Given the description of an element on the screen output the (x, y) to click on. 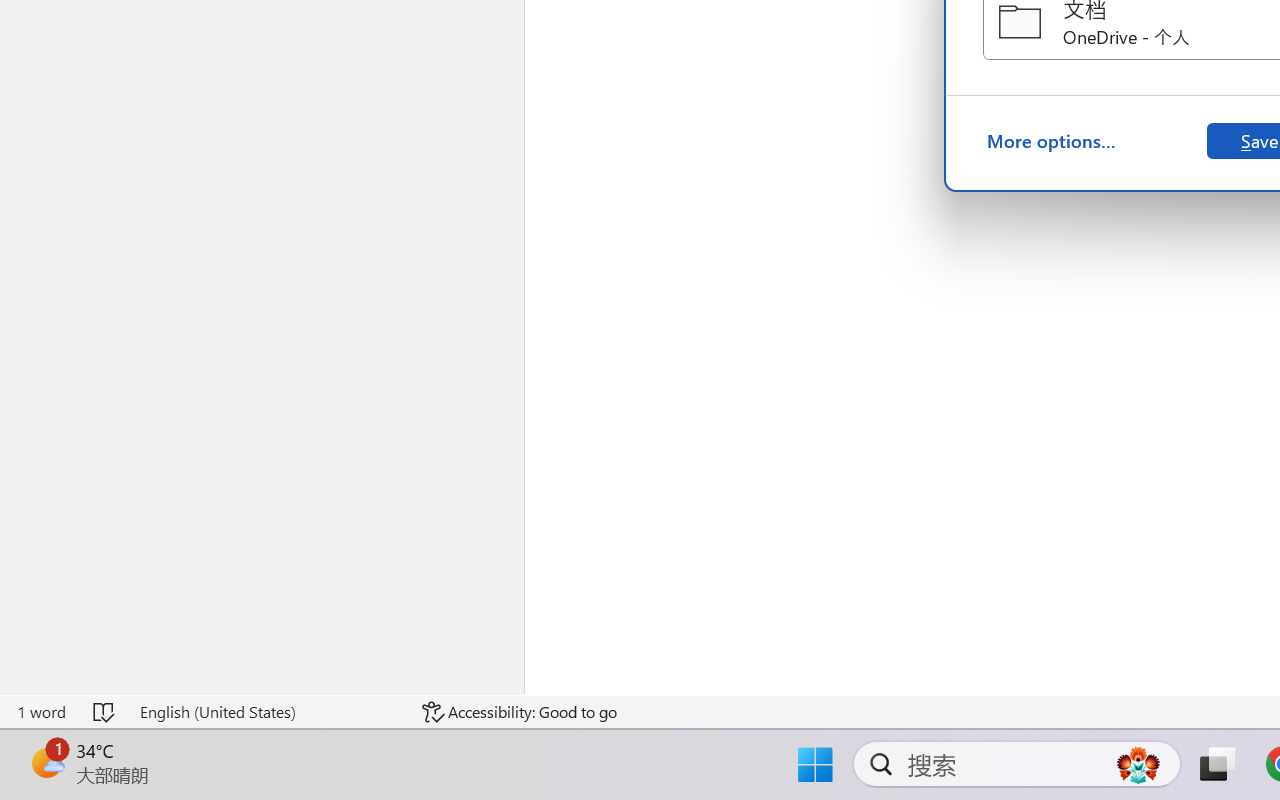
Accessibility Checker Accessibility: Good to go (519, 712)
Word Count 1 word (41, 712)
Spelling and Grammar Check No Errors (105, 712)
Language English (United States) (267, 712)
AutomationID: DynamicSearchBoxGleamImage (1138, 764)
AutomationID: BadgeAnchorLargeTicker (46, 762)
